Given the description of an element on the screen output the (x, y) to click on. 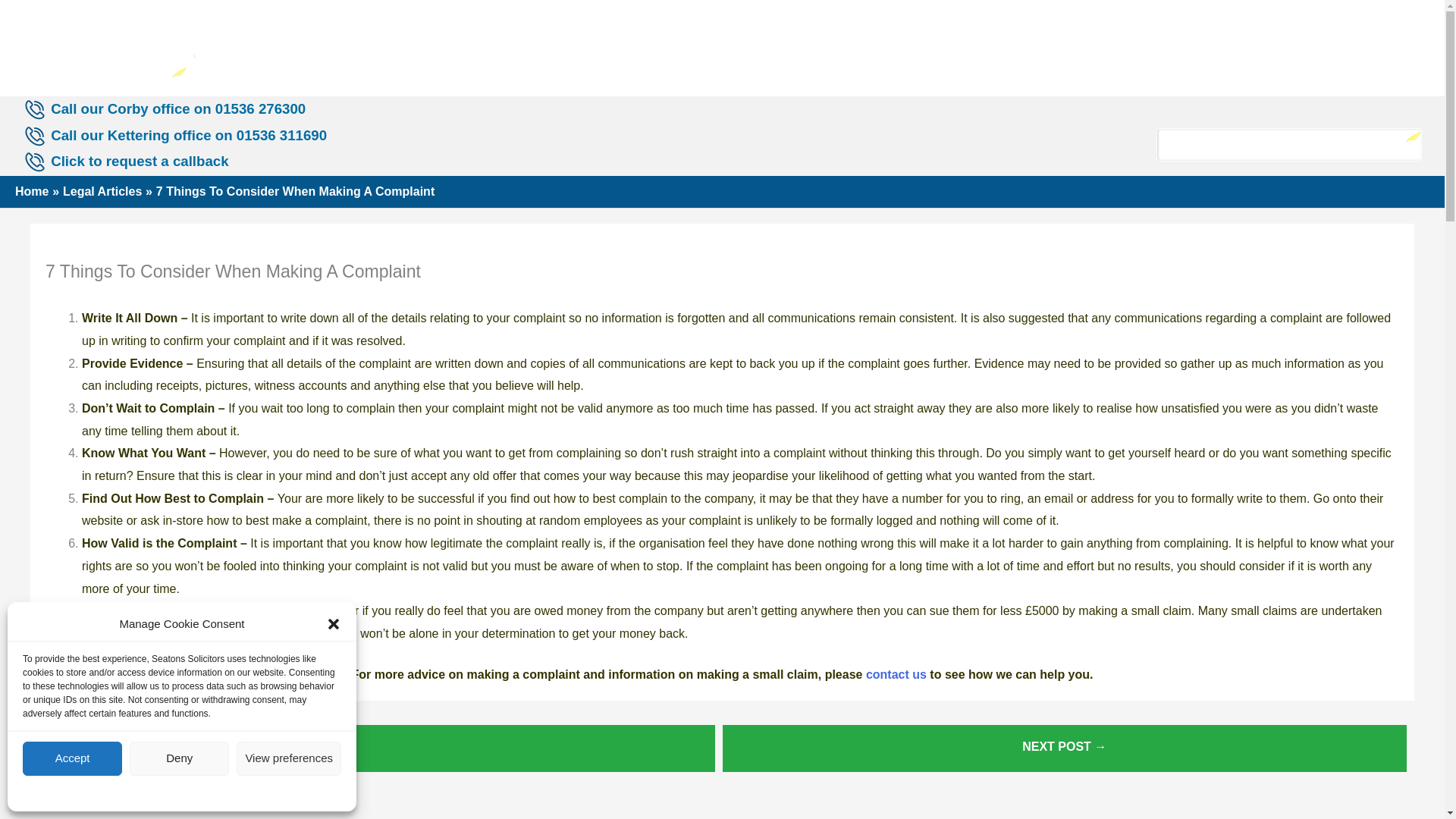
View preferences (287, 758)
Deny (178, 758)
About Us (435, 47)
Home (355, 47)
Home (355, 47)
About Us (435, 47)
Accept (72, 758)
Legal Services (549, 47)
Privacy Statement (213, 791)
Legal Services (549, 47)
Cookie Policy (140, 791)
